Given the description of an element on the screen output the (x, y) to click on. 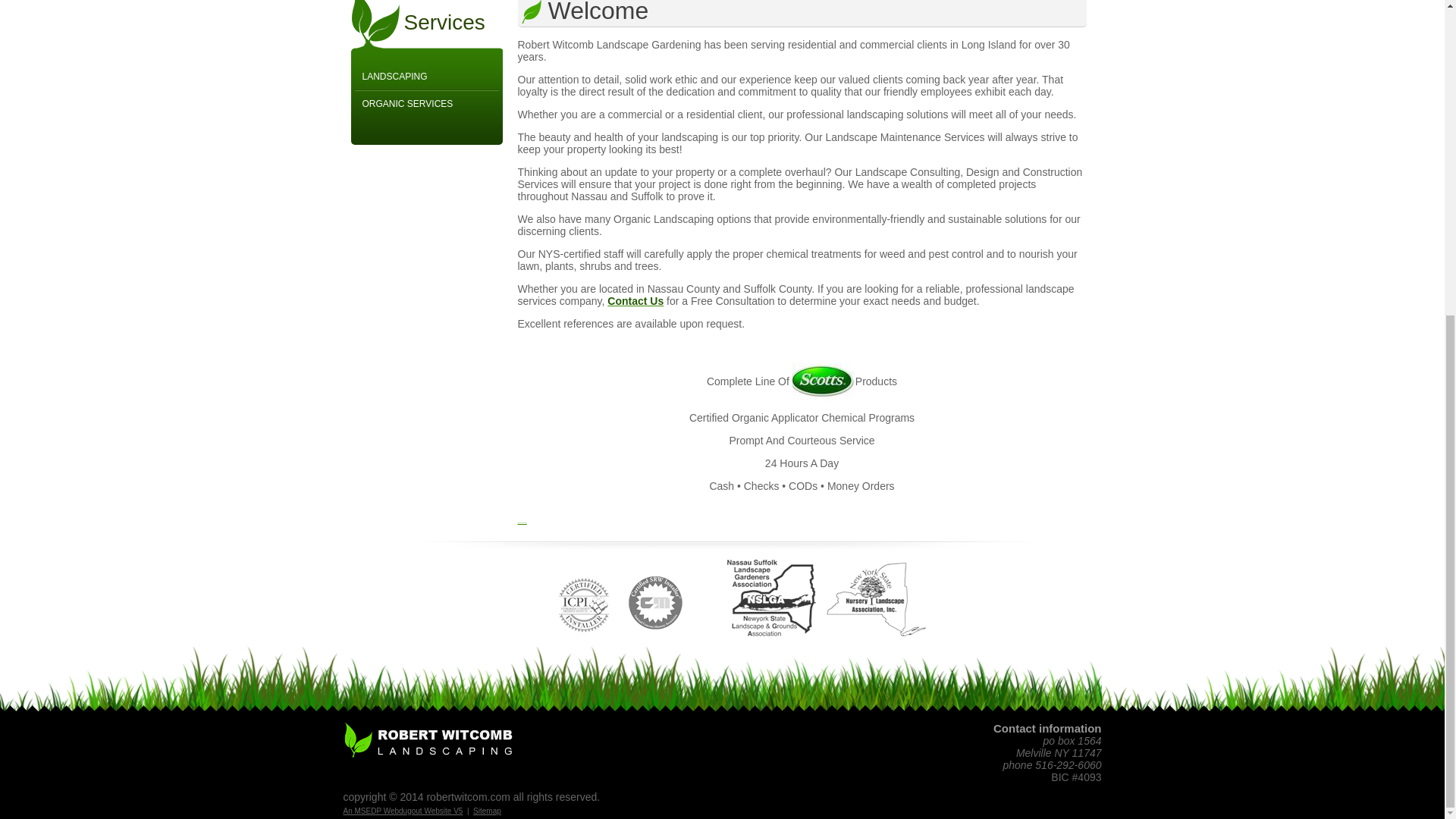
An MSEDP Webdugout Website V5 (402, 810)
Organic Services (427, 103)
LANDSCAPING (427, 76)
Contact Us (635, 300)
Sitemap (486, 810)
ORGANIC SERVICES (427, 103)
Landscaping (427, 76)
